Given the description of an element on the screen output the (x, y) to click on. 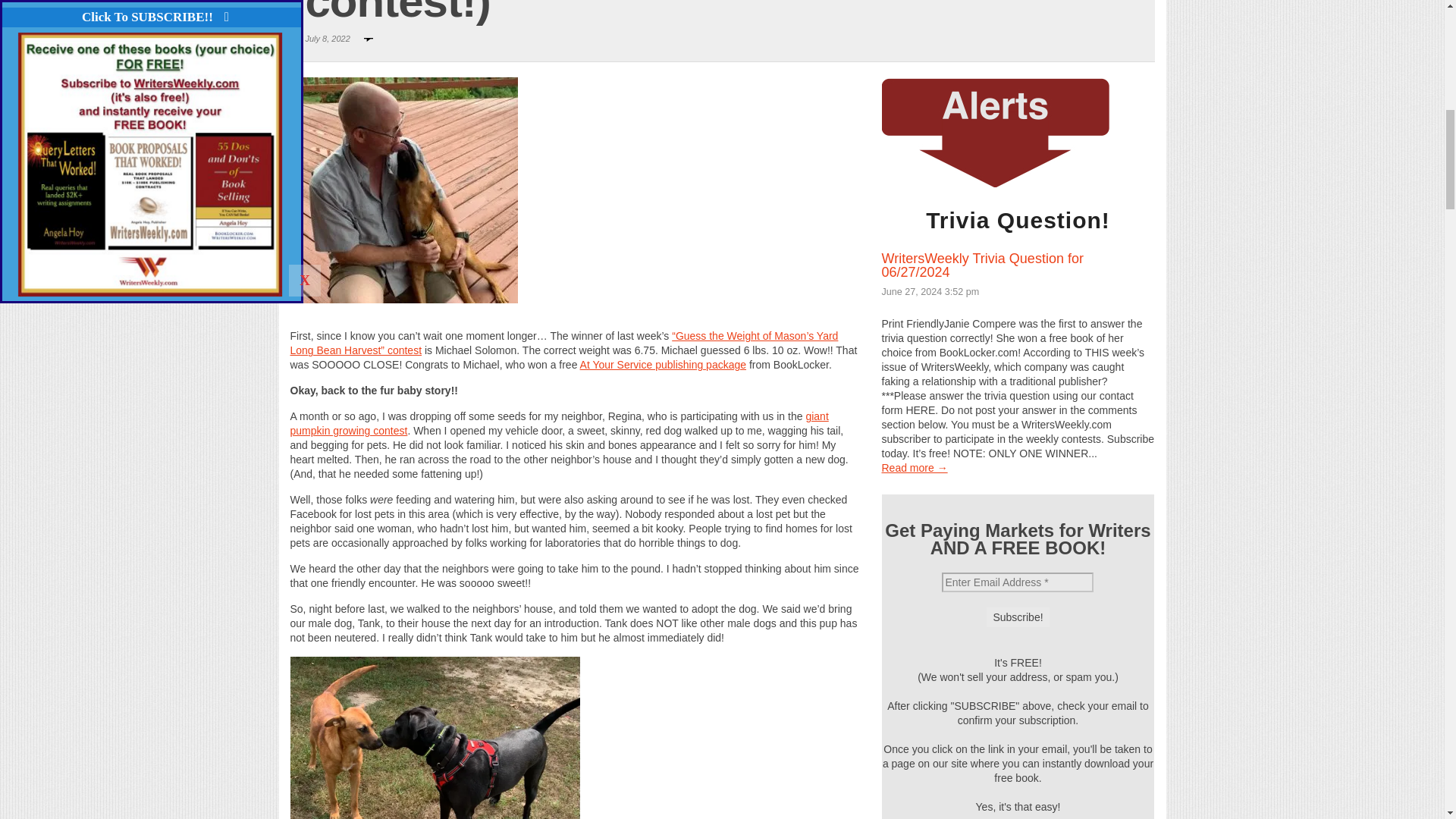
Subscribe! (1017, 617)
Enter Email Address (1017, 582)
